Given the description of an element on the screen output the (x, y) to click on. 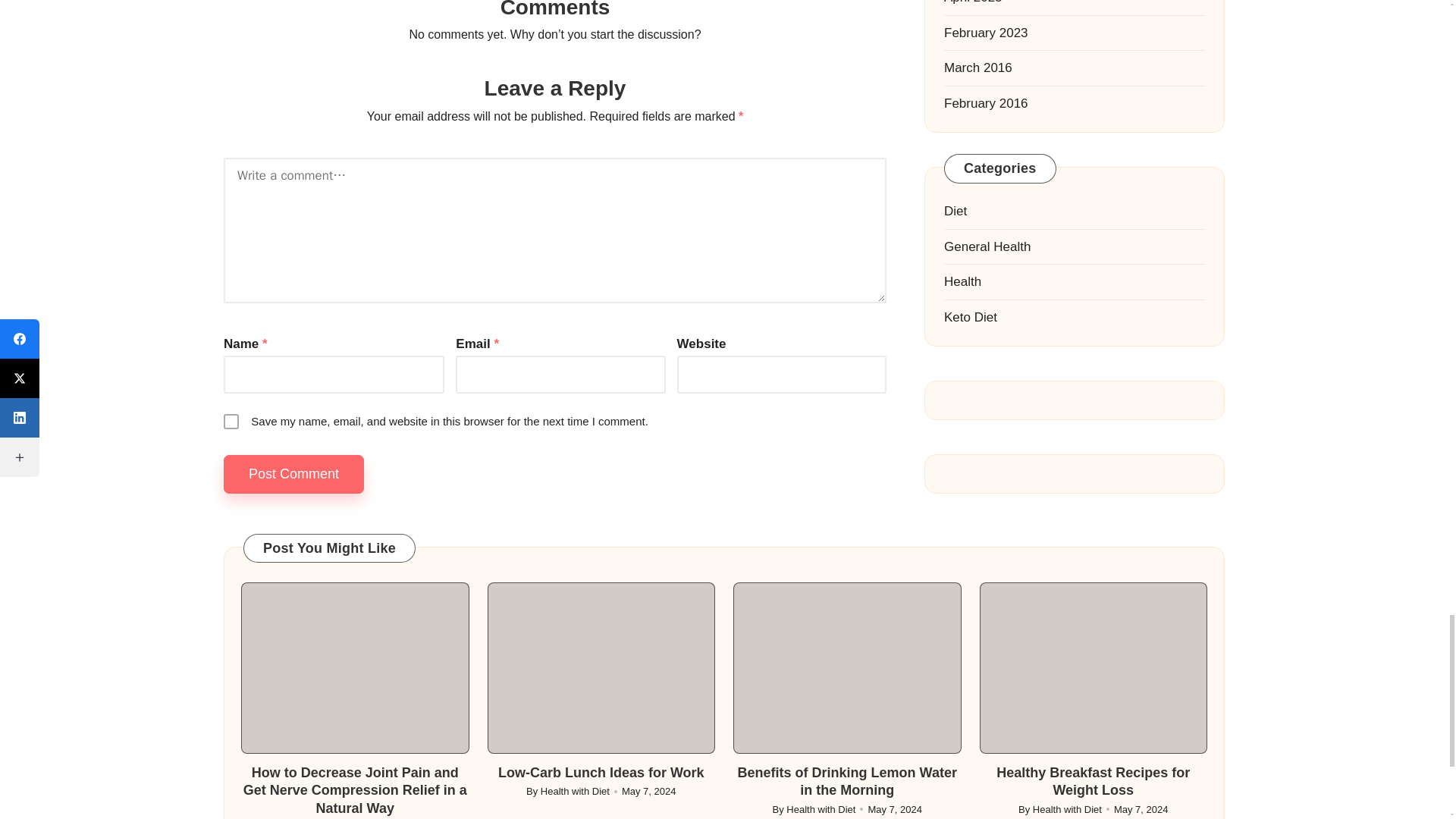
View all posts by Health with Diet (575, 790)
Healthy Breakfast Recipes for Weight Loss 6 (1093, 667)
Post Comment (294, 474)
View all posts by Health with Diet (821, 808)
Low-Carb Lunch Ideas for Work 4 (600, 667)
yes (231, 421)
Benefits of Drinking Lemon Water in the Morning 5 (846, 667)
Post Comment (294, 474)
View all posts by Health with Diet (1067, 808)
